Given the description of an element on the screen output the (x, y) to click on. 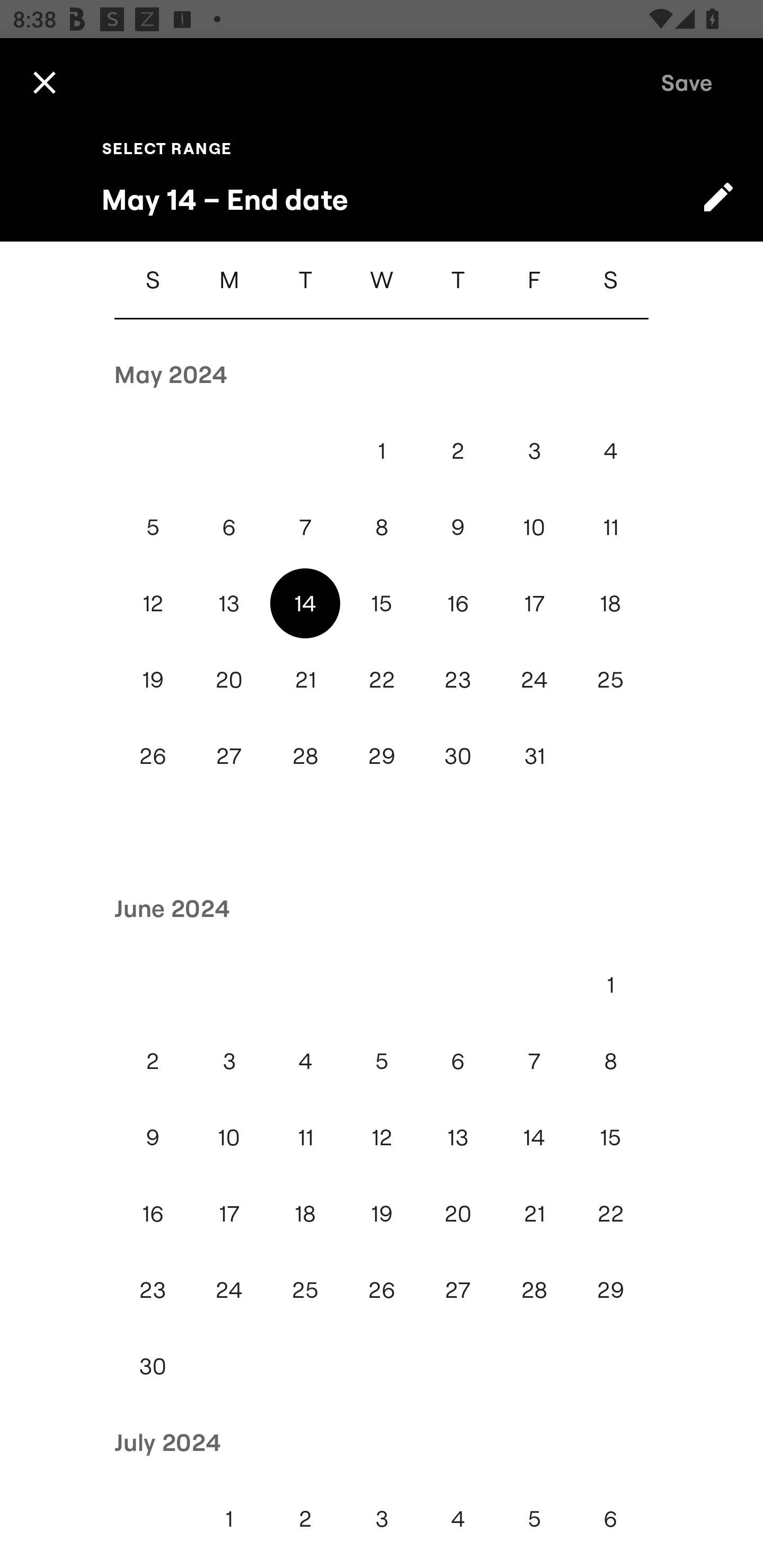
Cancel (44, 81)
Save (686, 81)
Switch to text input mode (718, 196)
1 Wed, May 1 (381, 450)
2 Thu, May 2 (457, 450)
3 Fri, May 3 (533, 450)
4 Sat, May 4 (610, 450)
5 Sun, May 5 (152, 526)
6 Mon, May 6 (228, 526)
7 Tue, May 7 (305, 526)
8 Wed, May 8 (381, 526)
9 Thu, May 9 (457, 526)
10 Fri, May 10 (533, 526)
11 Sat, May 11 (610, 526)
12 Sun, May 12 (152, 602)
13 Mon, May 13 (228, 602)
14 Tue, May 14 (305, 602)
15 Wed, May 15 (381, 602)
16 Thu, May 16 (457, 602)
17 Fri, May 17 (533, 602)
18 Sat, May 18 (610, 602)
19 Sun, May 19 (152, 679)
20 Mon, May 20 (228, 679)
21 Tue, May 21 (305, 679)
22 Wed, May 22 (381, 679)
23 Thu, May 23 (457, 679)
24 Fri, May 24 (533, 679)
25 Sat, May 25 (610, 679)
26 Sun, May 26 (152, 755)
27 Mon, May 27 (228, 755)
28 Tue, May 28 (305, 755)
29 Wed, May 29 (381, 755)
30 Thu, May 30 (457, 755)
31 Fri, May 31 (533, 755)
1 Sat, Jun 1 (610, 984)
2 Sun, Jun 2 (152, 1060)
3 Mon, Jun 3 (228, 1060)
4 Tue, Jun 4 (305, 1060)
5 Wed, Jun 5 (381, 1060)
6 Thu, Jun 6 (457, 1060)
7 Fri, Jun 7 (533, 1060)
8 Sat, Jun 8 (610, 1060)
9 Sun, Jun 9 (152, 1137)
10 Mon, Jun 10 (228, 1137)
11 Tue, Jun 11 (305, 1137)
12 Wed, Jun 12 (381, 1137)
13 Thu, Jun 13 (457, 1137)
14 Fri, Jun 14 (533, 1137)
15 Sat, Jun 15 (610, 1137)
16 Sun, Jun 16 (152, 1213)
17 Mon, Jun 17 (228, 1213)
18 Tue, Jun 18 (305, 1213)
19 Wed, Jun 19 (381, 1213)
20 Thu, Jun 20 (457, 1213)
21 Fri, Jun 21 (533, 1213)
22 Sat, Jun 22 (610, 1213)
23 Sun, Jun 23 (152, 1289)
24 Mon, Jun 24 (228, 1289)
25 Tue, Jun 25 (305, 1289)
26 Wed, Jun 26 (381, 1289)
27 Thu, Jun 27 (457, 1289)
28 Fri, Jun 28 (533, 1289)
29 Sat, Jun 29 (610, 1289)
30 Sun, Jun 30 (152, 1366)
1 Mon, Jul 1 (228, 1518)
2 Tue, Jul 2 (305, 1518)
3 Wed, Jul 3 (381, 1518)
4 Thu, Jul 4 (457, 1518)
5 Fri, Jul 5 (533, 1518)
6 Sat, Jul 6 (610, 1518)
